Given the description of an element on the screen output the (x, y) to click on. 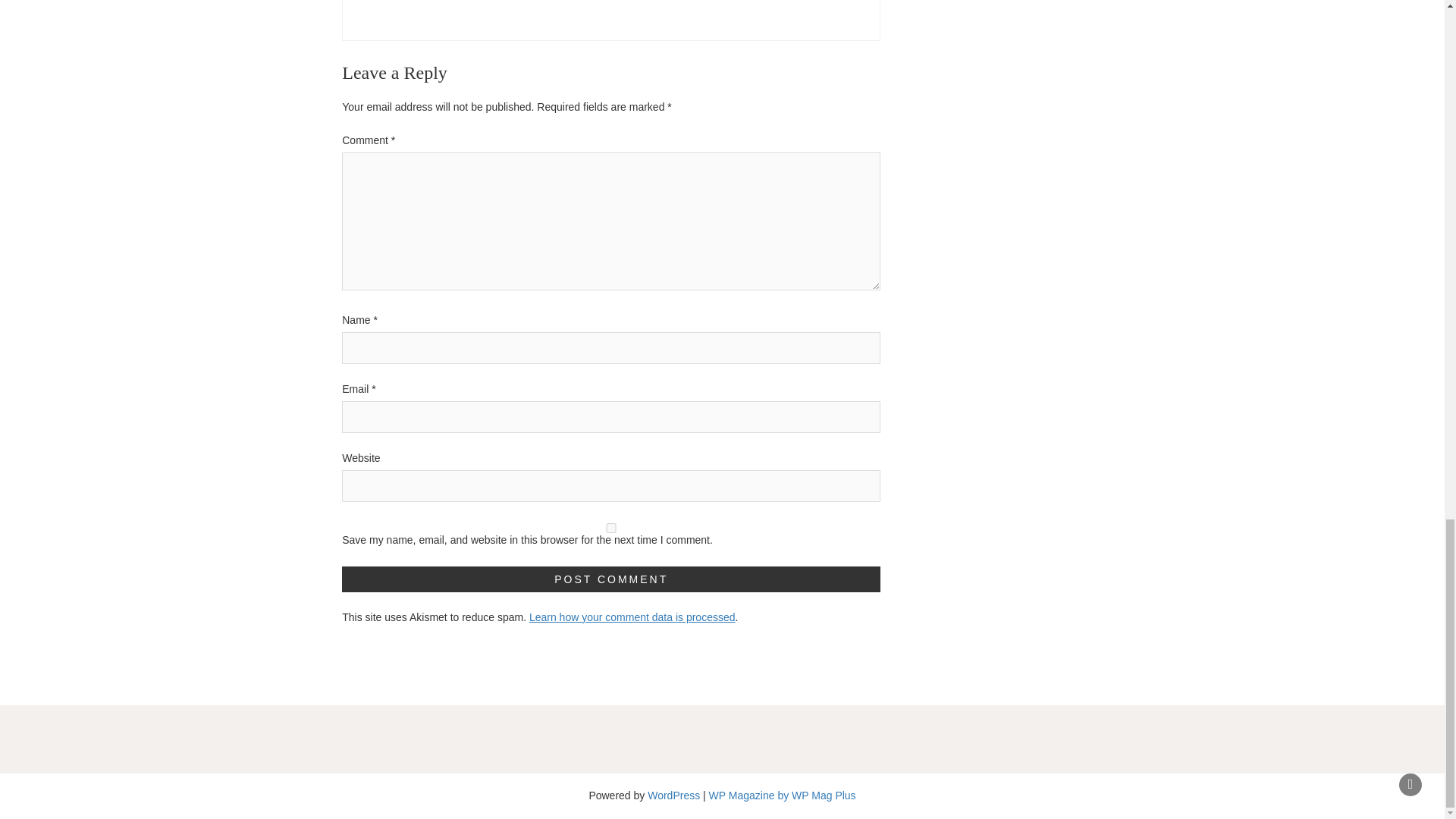
Post Comment (611, 579)
WordPress (673, 795)
Post Comment (611, 579)
WP Magazine by WP Mag Plus (782, 795)
yes (611, 528)
Learn how your comment data is processed (632, 616)
